Given the description of an element on the screen output the (x, y) to click on. 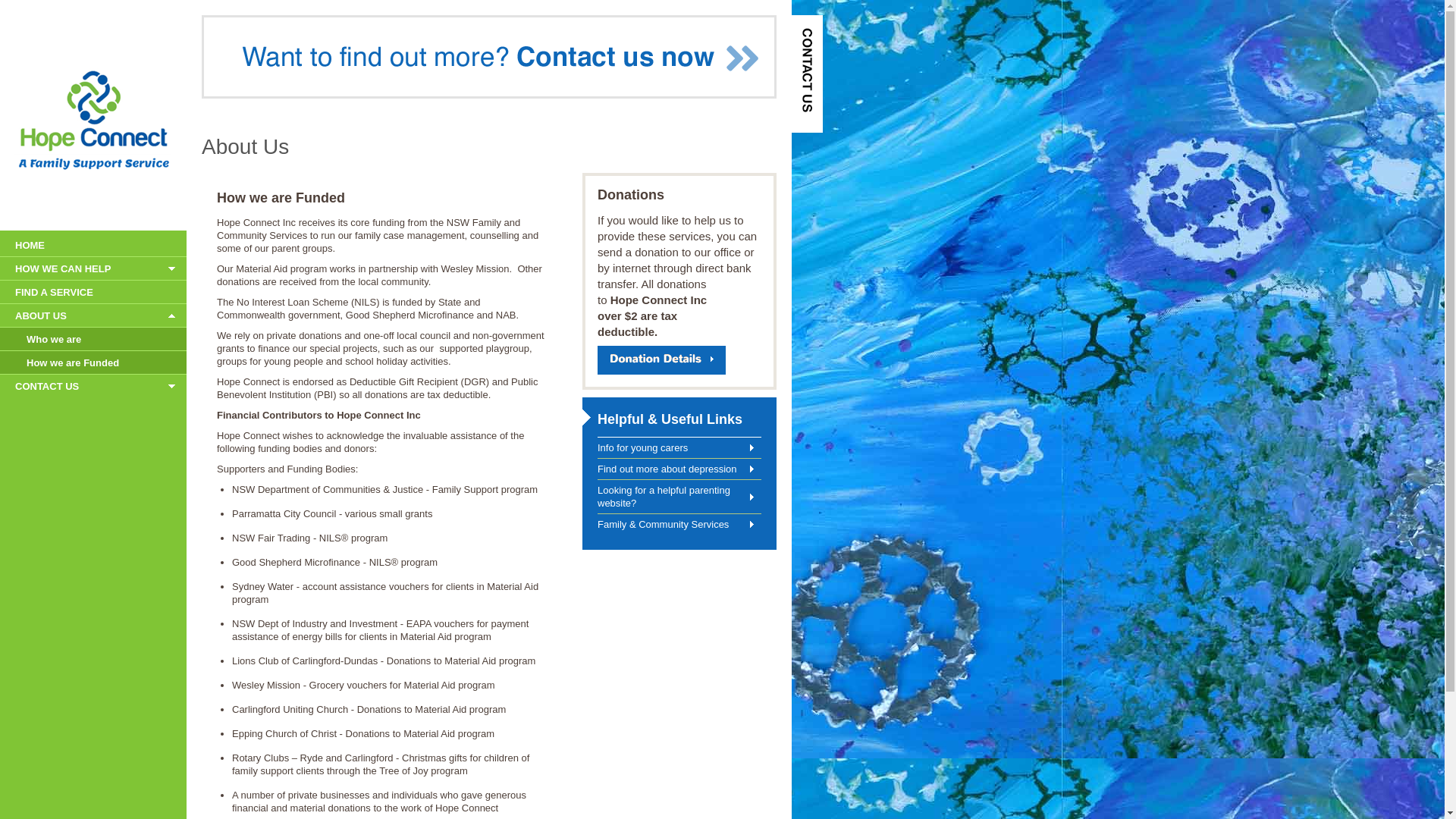
CONTACT US Element type: text (93, 385)
Donation Details Element type: text (661, 359)
Family & Community Services Element type: text (679, 524)
Looking for a helpful parenting website? Element type: text (679, 496)
FIND A SERVICE Element type: text (93, 291)
HOW WE CAN HELP Element type: text (93, 268)
Info for young carers Element type: text (679, 447)
HOME Element type: text (93, 244)
How we are Funded Element type: text (93, 362)
ABOUT US Element type: text (93, 315)
Contact Us Element type: text (806, 73)
Who we are Element type: text (93, 338)
Find out more about depression Element type: text (679, 468)
